Given the description of an element on the screen output the (x, y) to click on. 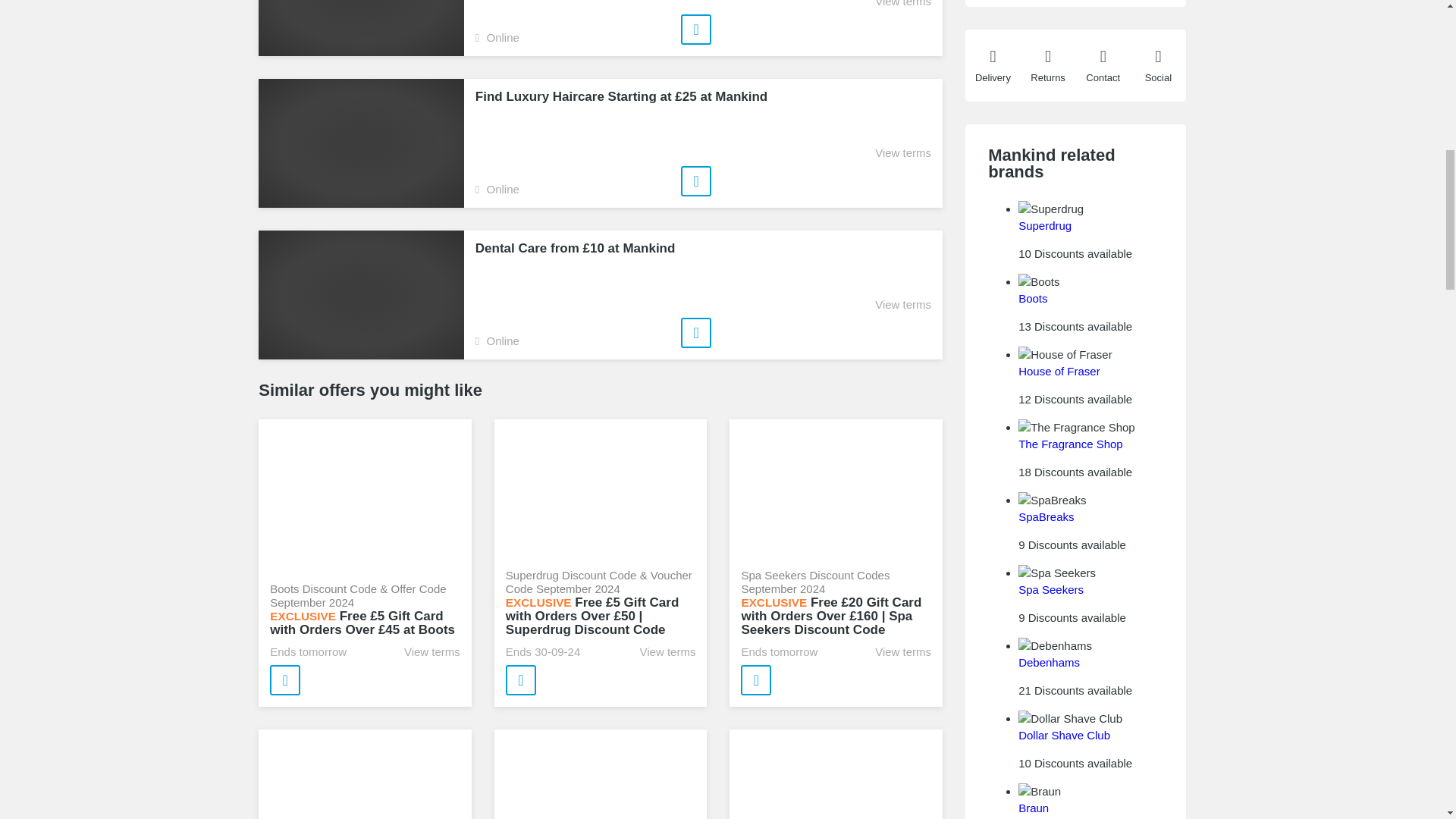
Superdrug (1044, 225)
